Given the description of an element on the screen output the (x, y) to click on. 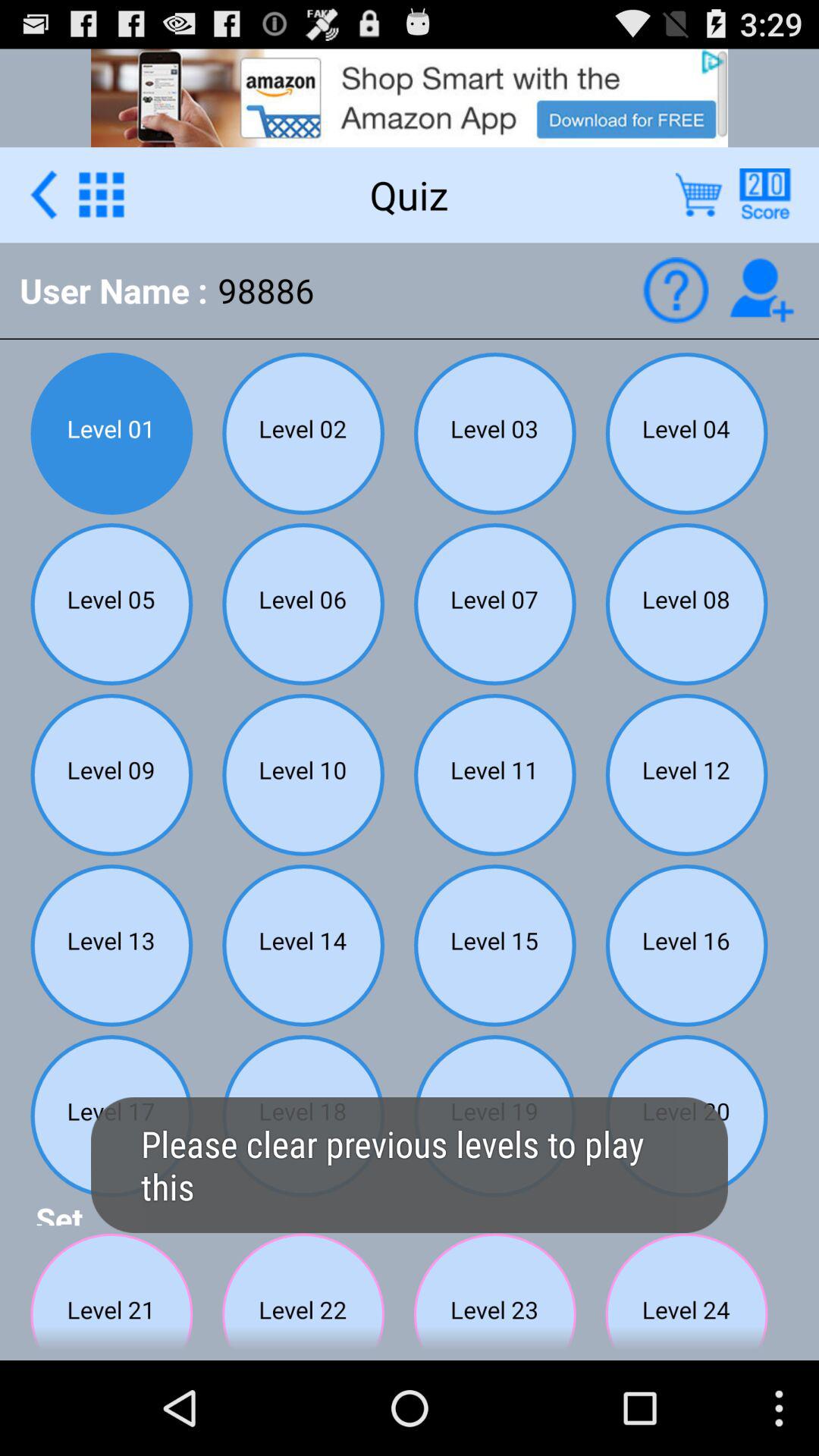
delete (698, 194)
